Given the description of an element on the screen output the (x, y) to click on. 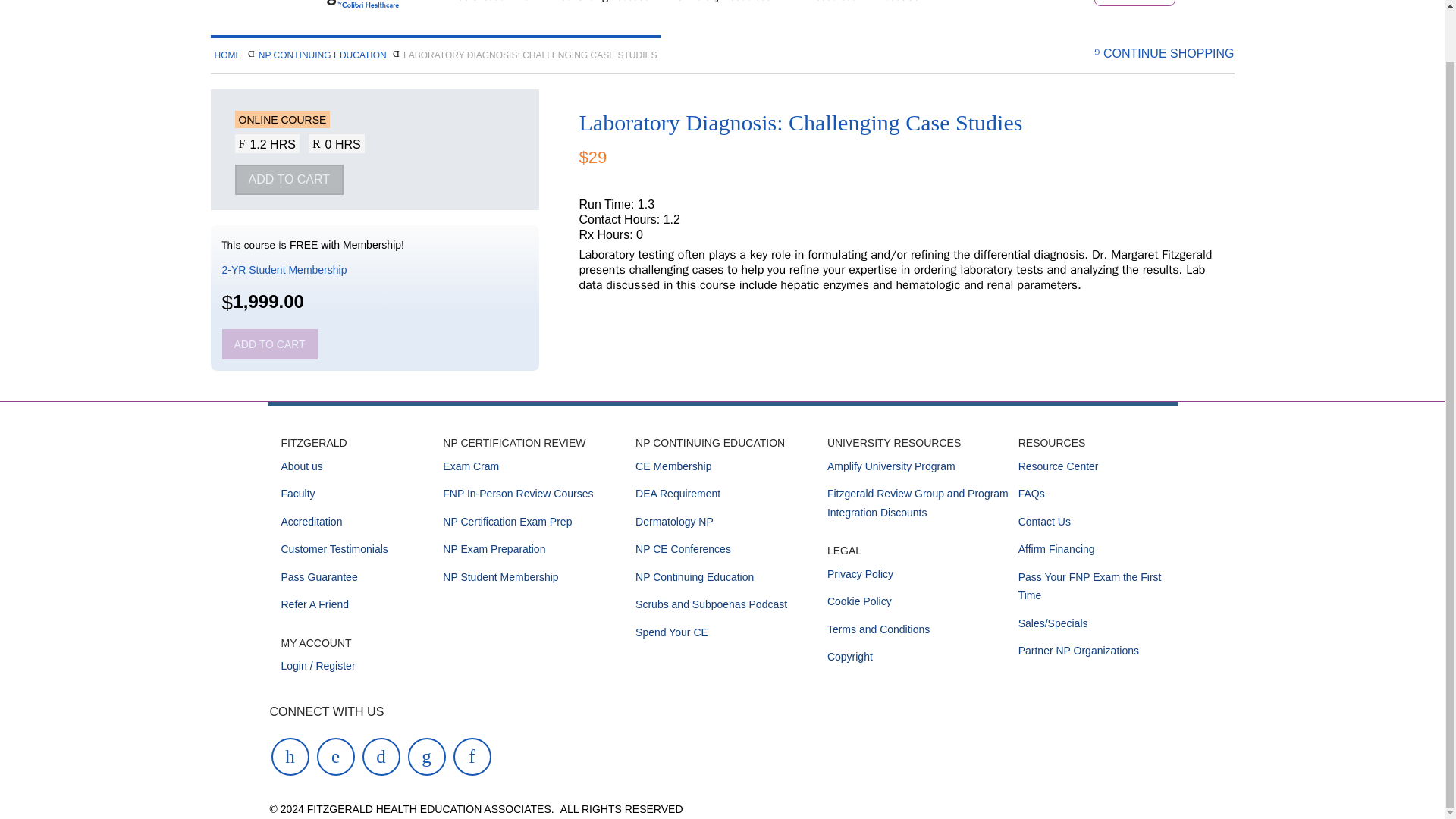
Certification Exam (497, 5)
Connect with us on LinkedIn (472, 755)
Connect with us on Instagram (336, 755)
Continuing Education (607, 5)
You are here (529, 54)
Connect with us on Facebook (381, 755)
Connect with us on YouTube (289, 755)
Connect with us on Twitter (426, 755)
Regular price (592, 157)
